Given the description of an element on the screen output the (x, y) to click on. 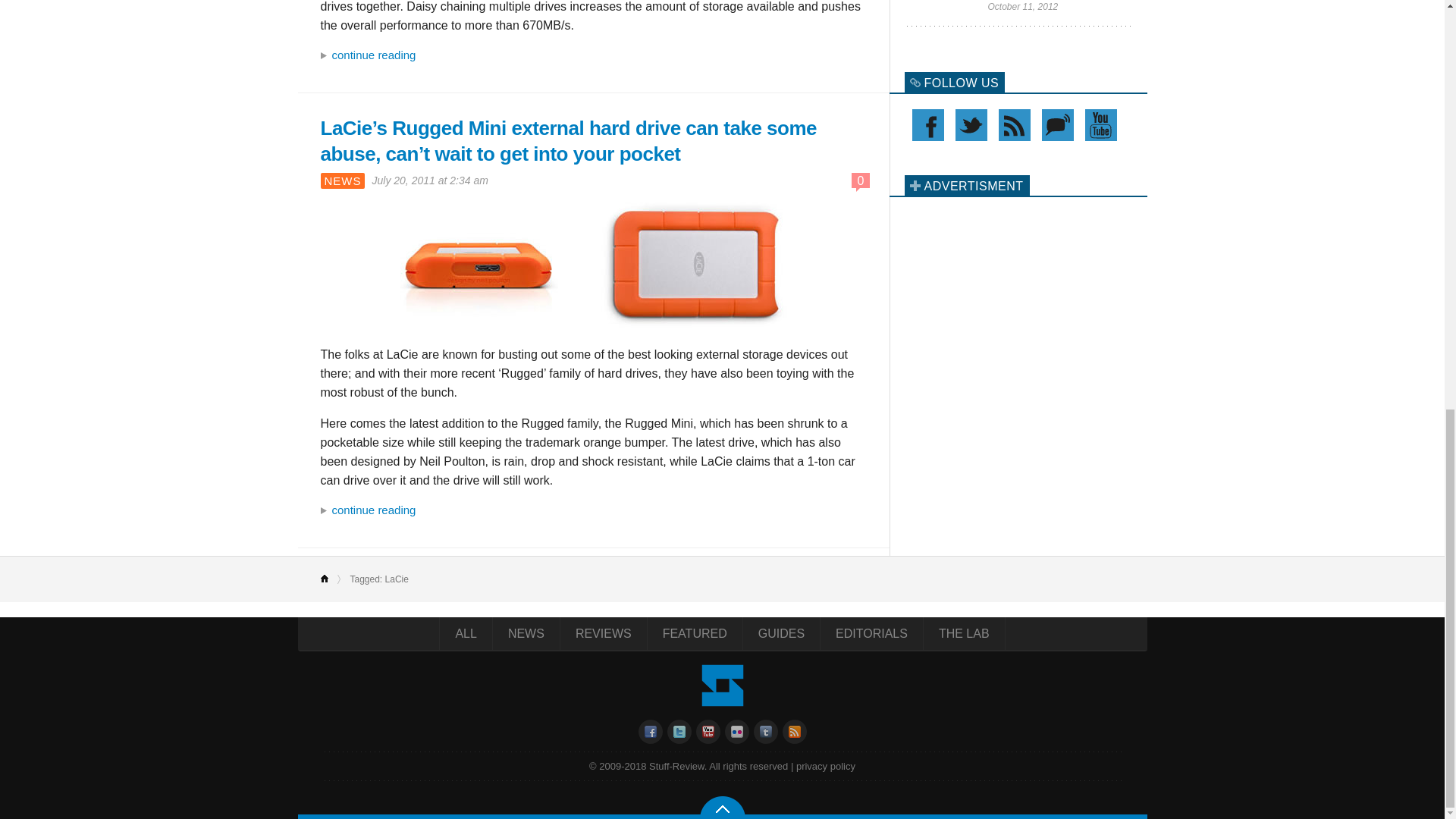
View all articles in News (342, 180)
LaCie Rugged Mini - USB3.0 portable hard drive (592, 264)
NEWS (342, 180)
continue reading (593, 55)
continue reading (593, 510)
0 (860, 180)
